Given the description of an element on the screen output the (x, y) to click on. 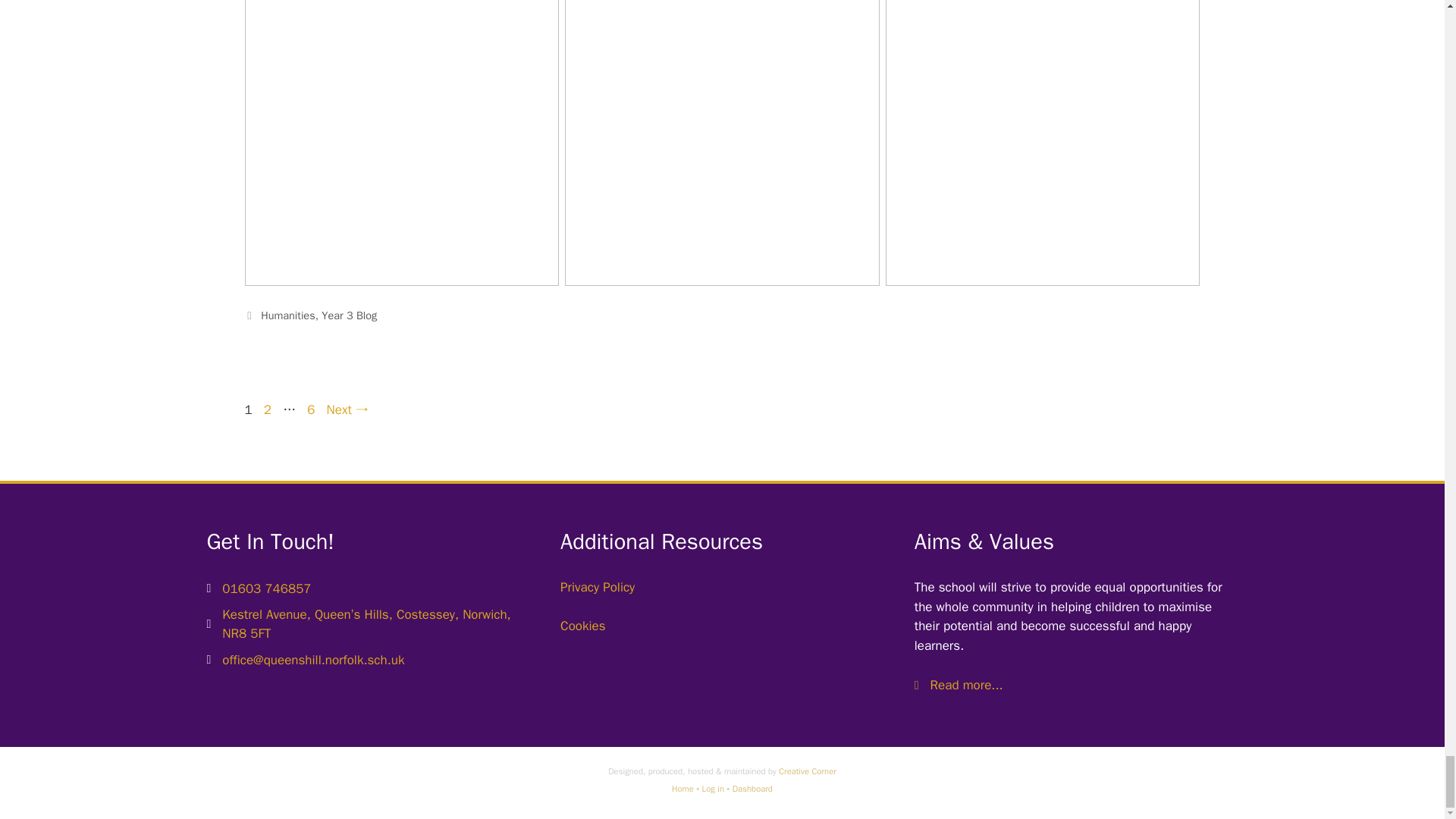
Login (712, 787)
Wordpress Dashboard (752, 787)
Back to Home Page (682, 787)
Click to visit the Creative Corner website (806, 770)
